Given the description of an element on the screen output the (x, y) to click on. 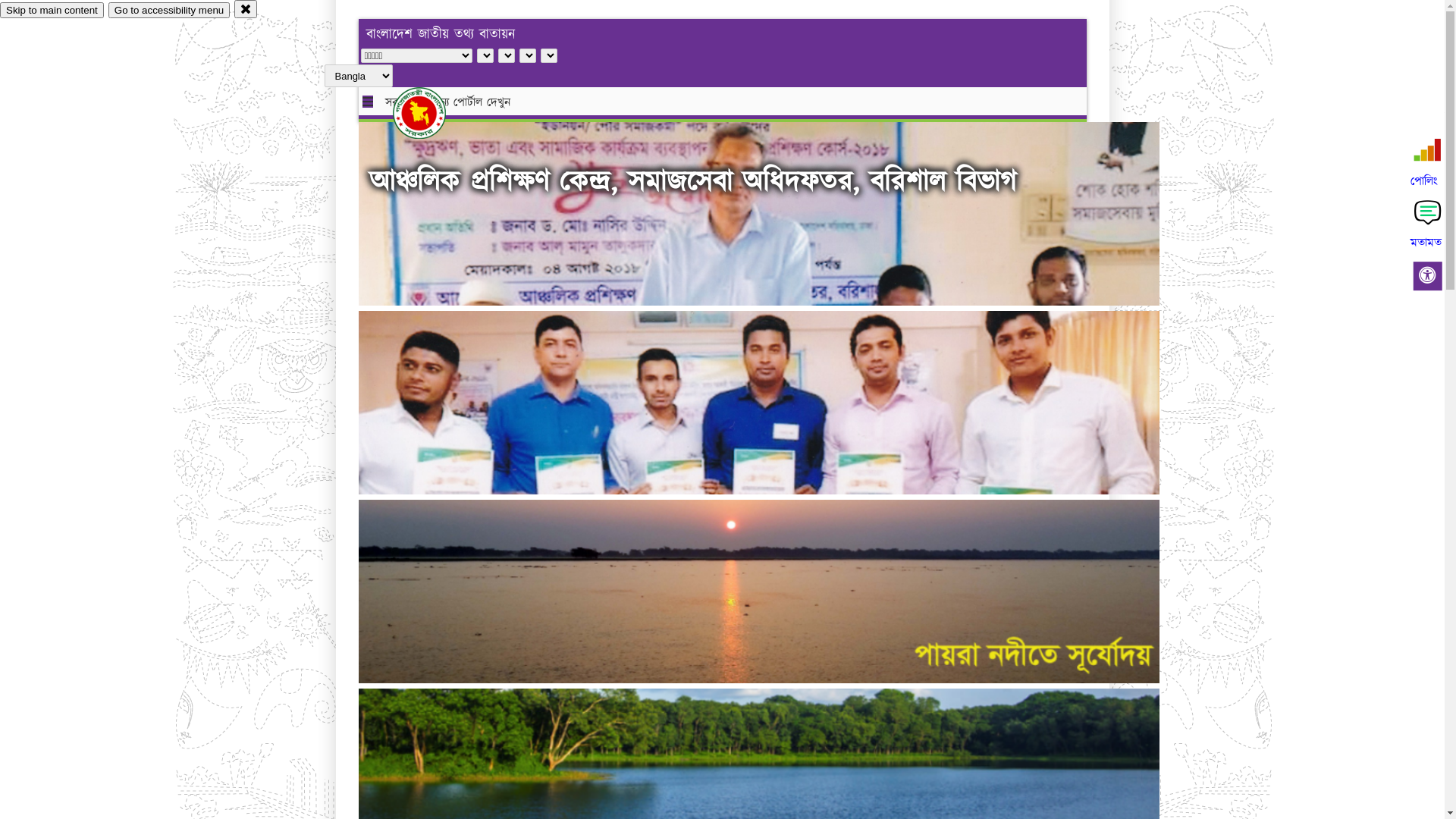

                
             Element type: hover (431, 112)
Go to accessibility menu Element type: text (168, 10)
Skip to main content Element type: text (51, 10)
close Element type: hover (245, 9)
